Given the description of an element on the screen output the (x, y) to click on. 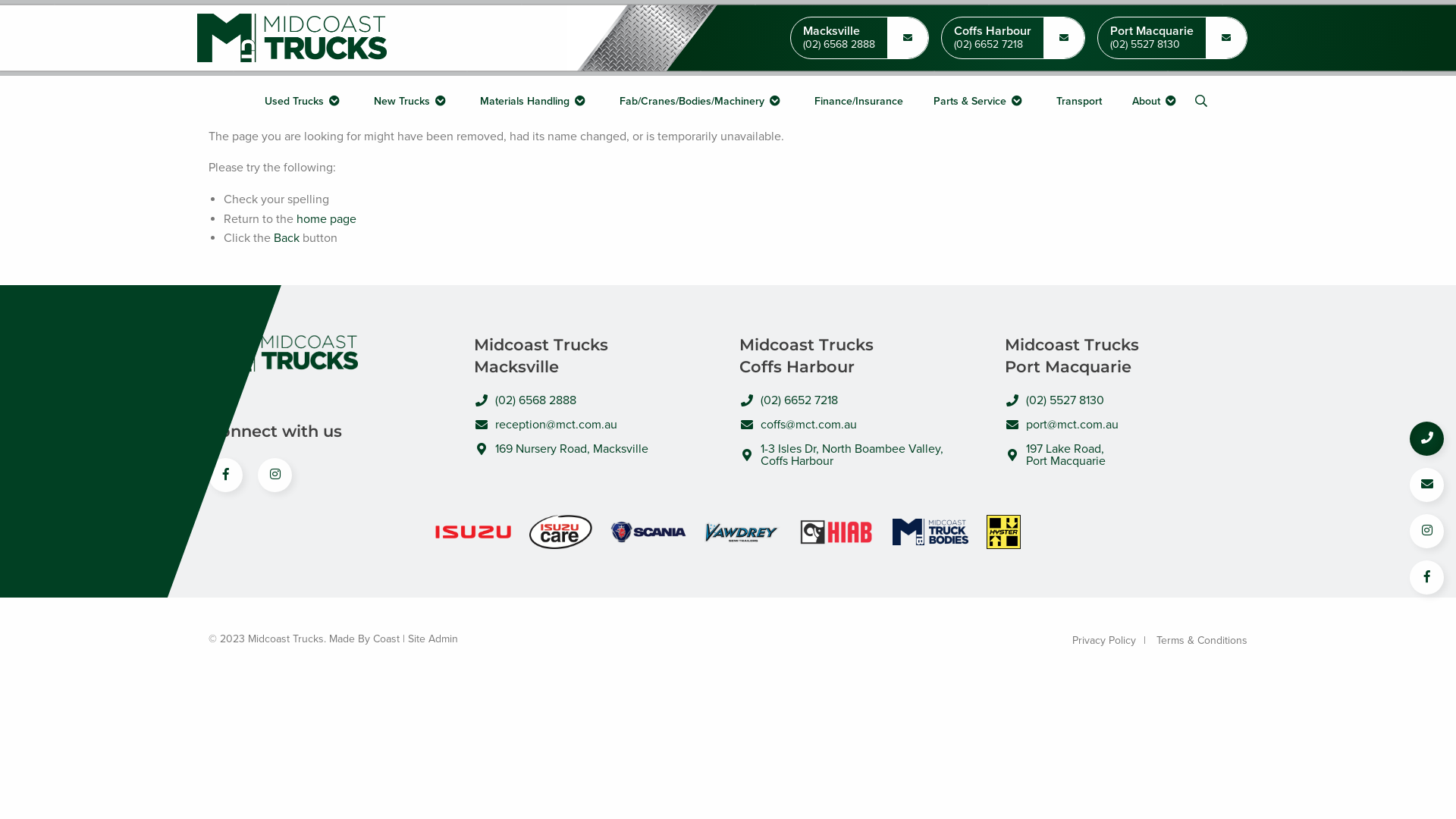
reception@mct.com.au Element type: text (594, 424)
Coast Element type: text (386, 638)
coffs@mct.com.au Element type: text (860, 424)
Terms & Conditions Element type: text (1201, 640)
(02) 5527 8130 Element type: text (1125, 400)
Finance/Insurance Element type: text (858, 101)
(02) 6652 7218 Element type: text (860, 400)
Fab/Cranes/Bodies/Machinery Element type: text (700, 101)
Privacy Policy Element type: text (1103, 640)
Used Trucks Element type: text (302, 101)
(02) 5527 8130 Element type: text (1151, 44)
home page Element type: text (326, 218)
Transport Element type: text (1078, 101)
Midcoast Trucks Element type: text (291, 37)
Materials Handling Element type: text (533, 101)
Parts & Service Element type: text (978, 101)
About Element type: text (1155, 101)
port@mct.com.au Element type: text (1125, 424)
(02) 6652 7218 Element type: text (992, 44)
(02) 6568 2888 Element type: text (839, 44)
(02) 6568 2888 Element type: text (594, 400)
1-3 Isles Dr, North Boambee Valley,
Coffs Harbour Element type: text (860, 454)
Site Admin Element type: text (432, 638)
New Trucks Element type: text (410, 101)
Back Element type: text (286, 237)
197 Lake Road,
Port Macquarie Element type: text (1125, 454)
169 Nursery Road, Macksville Element type: text (594, 448)
